Given the description of an element on the screen output the (x, y) to click on. 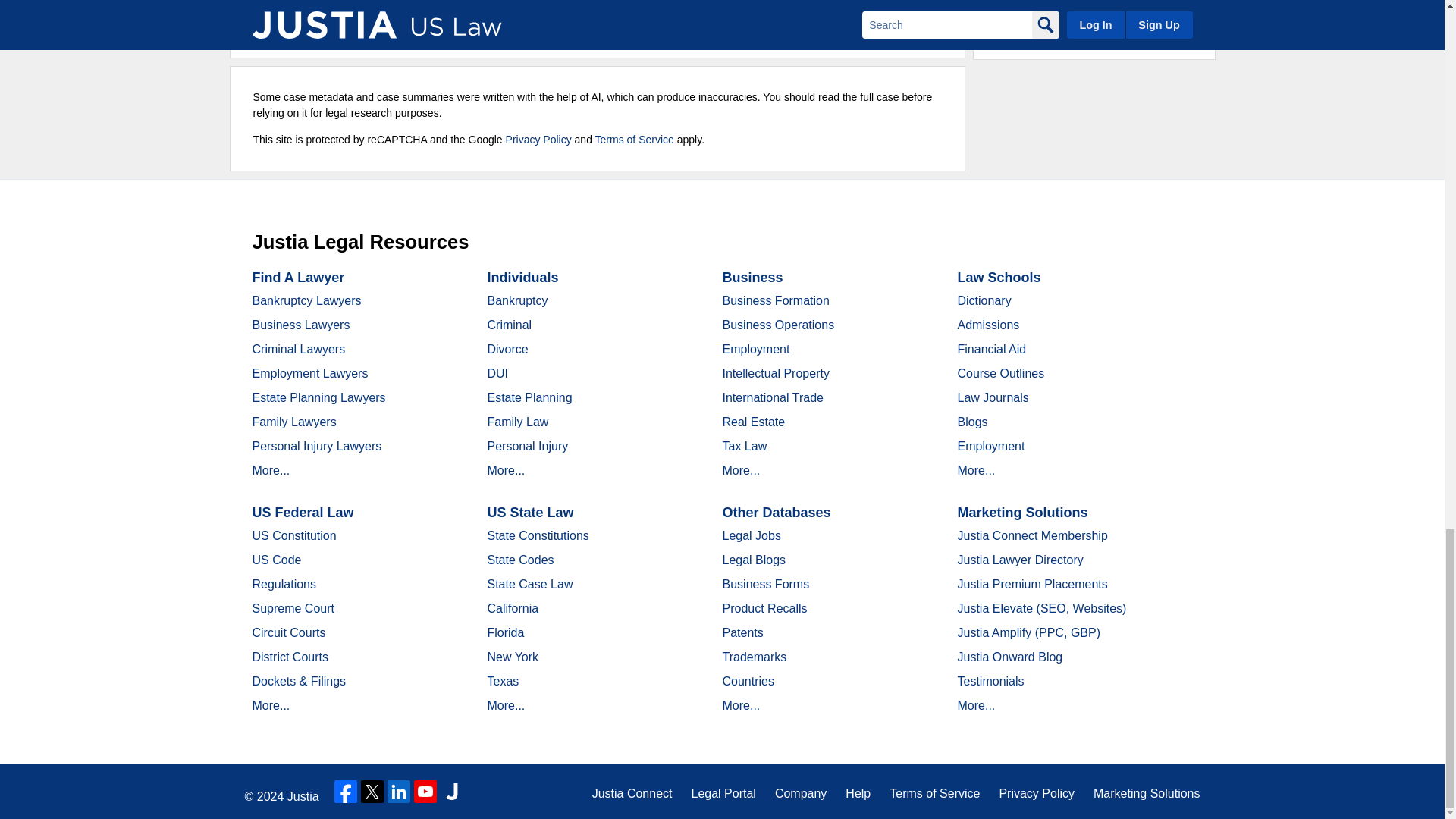
Terms of Service (634, 139)
Privacy Policy (538, 139)
Facebook (345, 791)
Twitter (372, 791)
LinkedIn (398, 791)
